Given the description of an element on the screen output the (x, y) to click on. 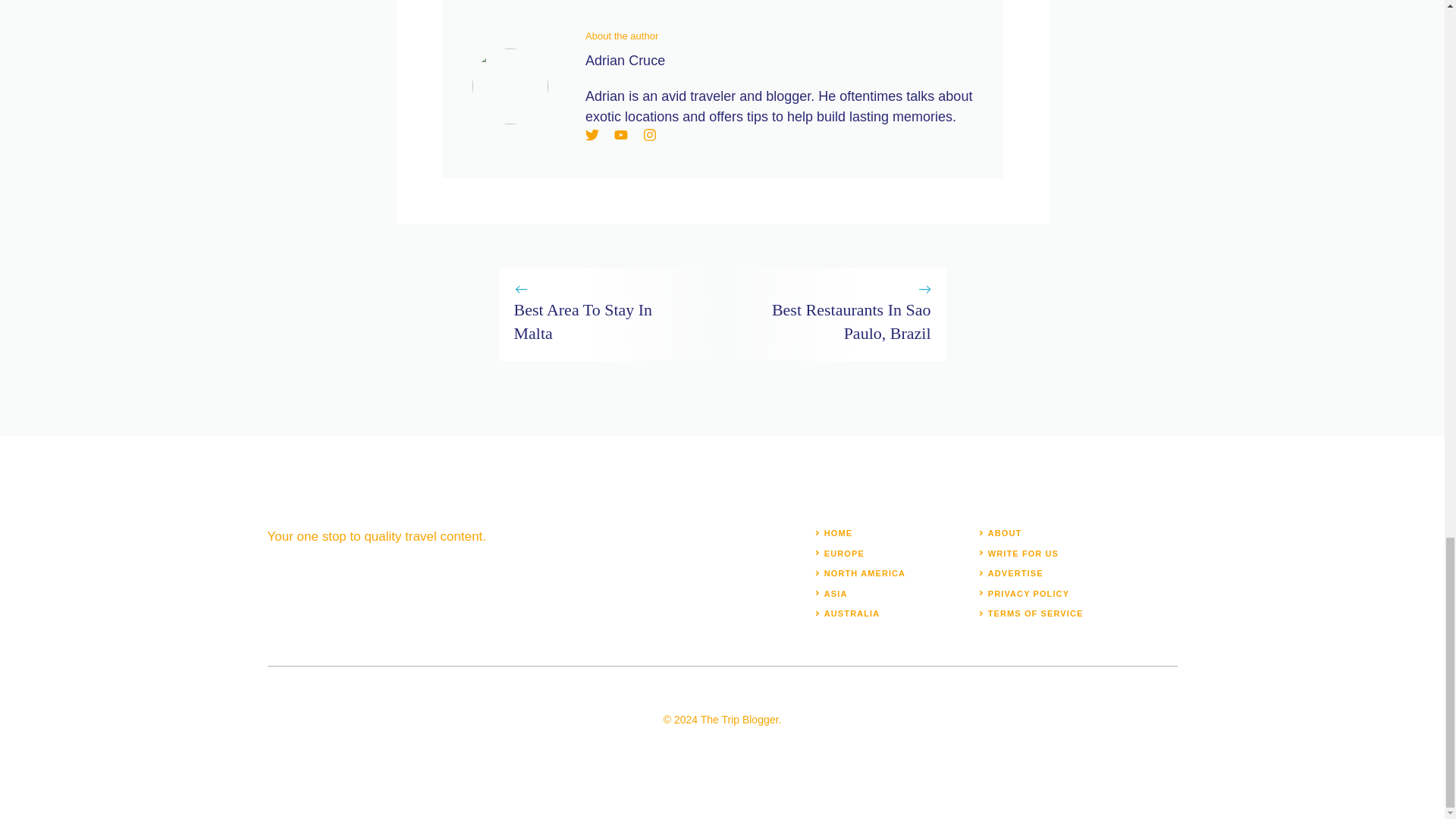
HOME (837, 532)
Best Restaurants In Sao Paulo, Brazil (851, 321)
PRIVACY POLICY (1028, 593)
ABOUT (1005, 532)
TERMS OF SERVICE (1035, 613)
Best Area To Stay In Malta (582, 321)
ADVERTISE (1015, 573)
AUSTRALIA (851, 613)
NORTH AMERICA (864, 573)
ASIA (835, 593)
WRITE FOR US (1023, 552)
EUROPE (844, 552)
